Given the description of an element on the screen output the (x, y) to click on. 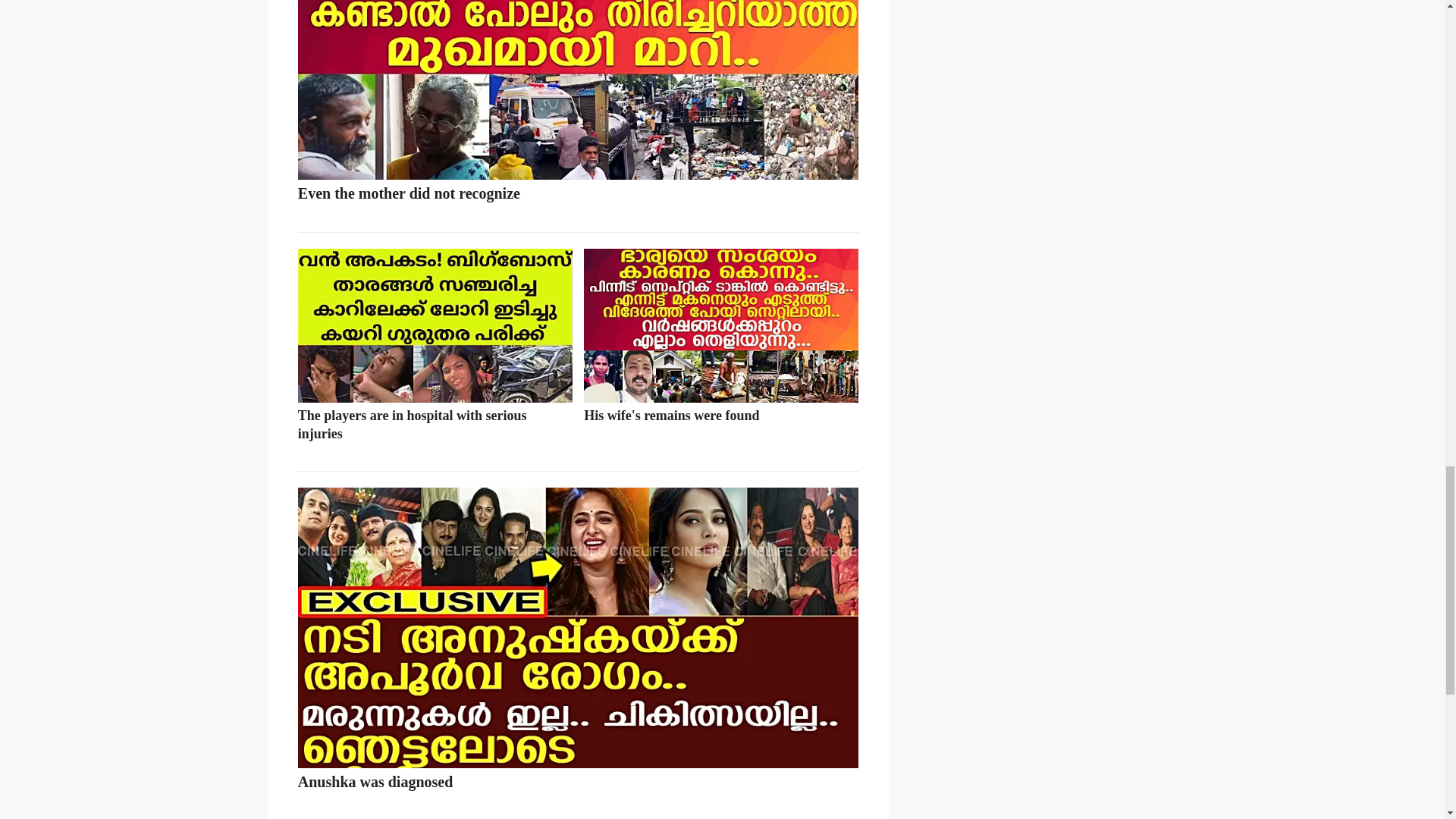
Anushka was diagnosed (578, 791)
His wife's remains were found (721, 424)
The players are in hospital with serious injuries (435, 433)
Even the mother did not recognize (578, 202)
